Given the description of an element on the screen output the (x, y) to click on. 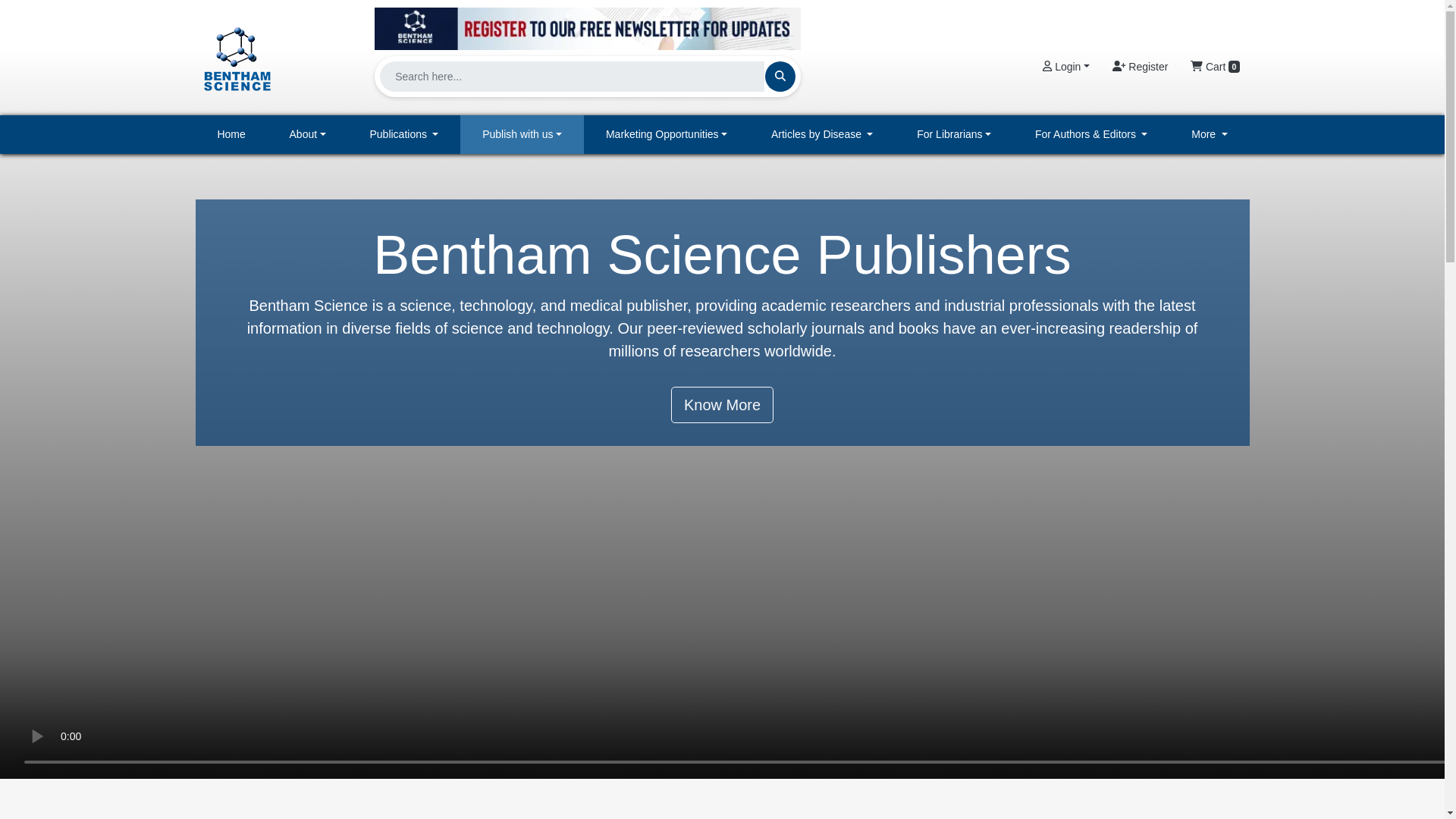
About (307, 134)
Cart 0 (1214, 67)
Login (1065, 67)
newsletter banner (587, 28)
Search Button (779, 76)
Home (231, 134)
Register (1139, 67)
Publications (404, 134)
newsletter banner (587, 24)
